Given the description of an element on the screen output the (x, y) to click on. 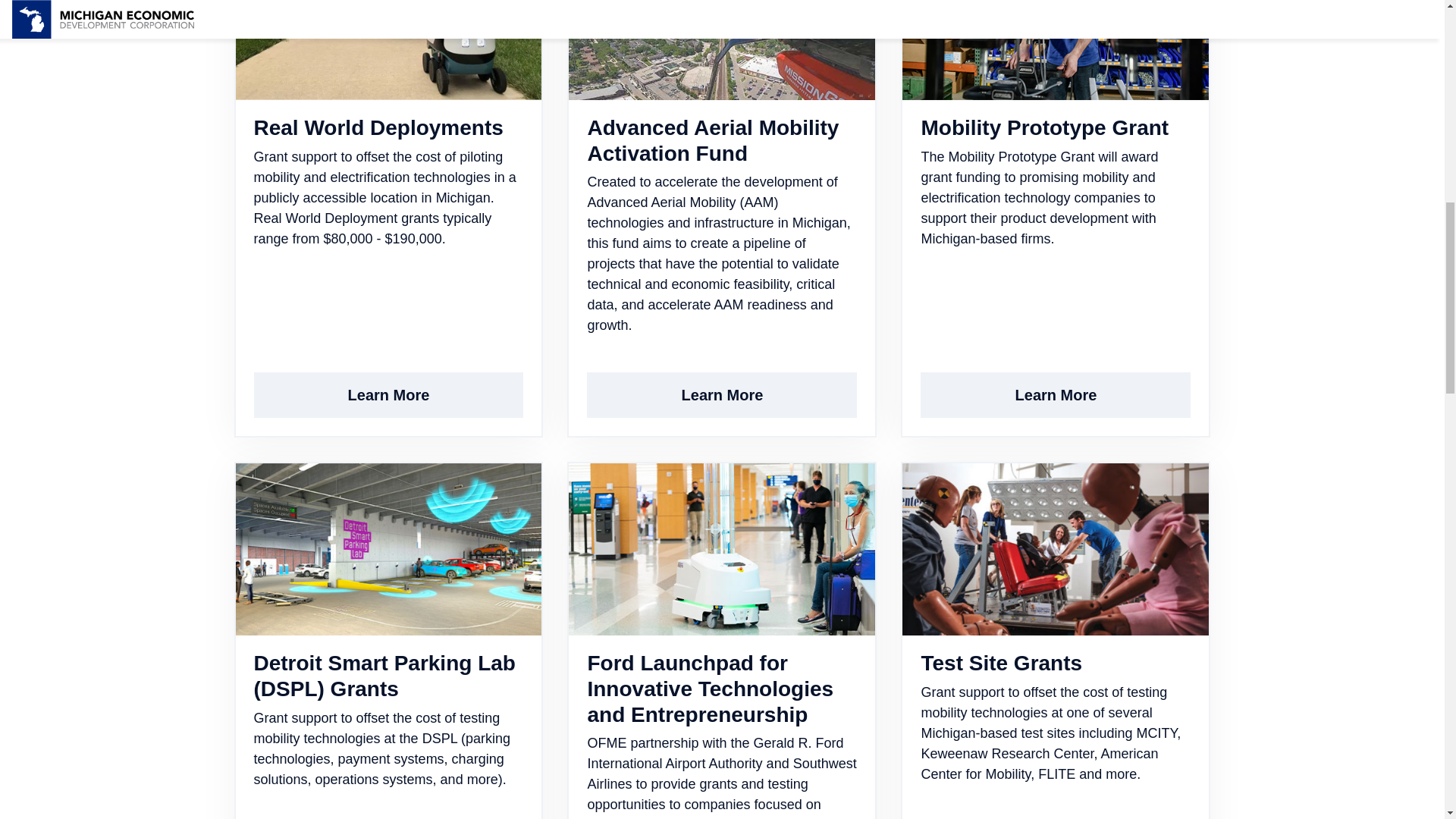
Learn More (387, 394)
Learn More (1055, 394)
Learn More (387, 394)
Real World.png (387, 49)
Learn More (721, 394)
